Given the description of an element on the screen output the (x, y) to click on. 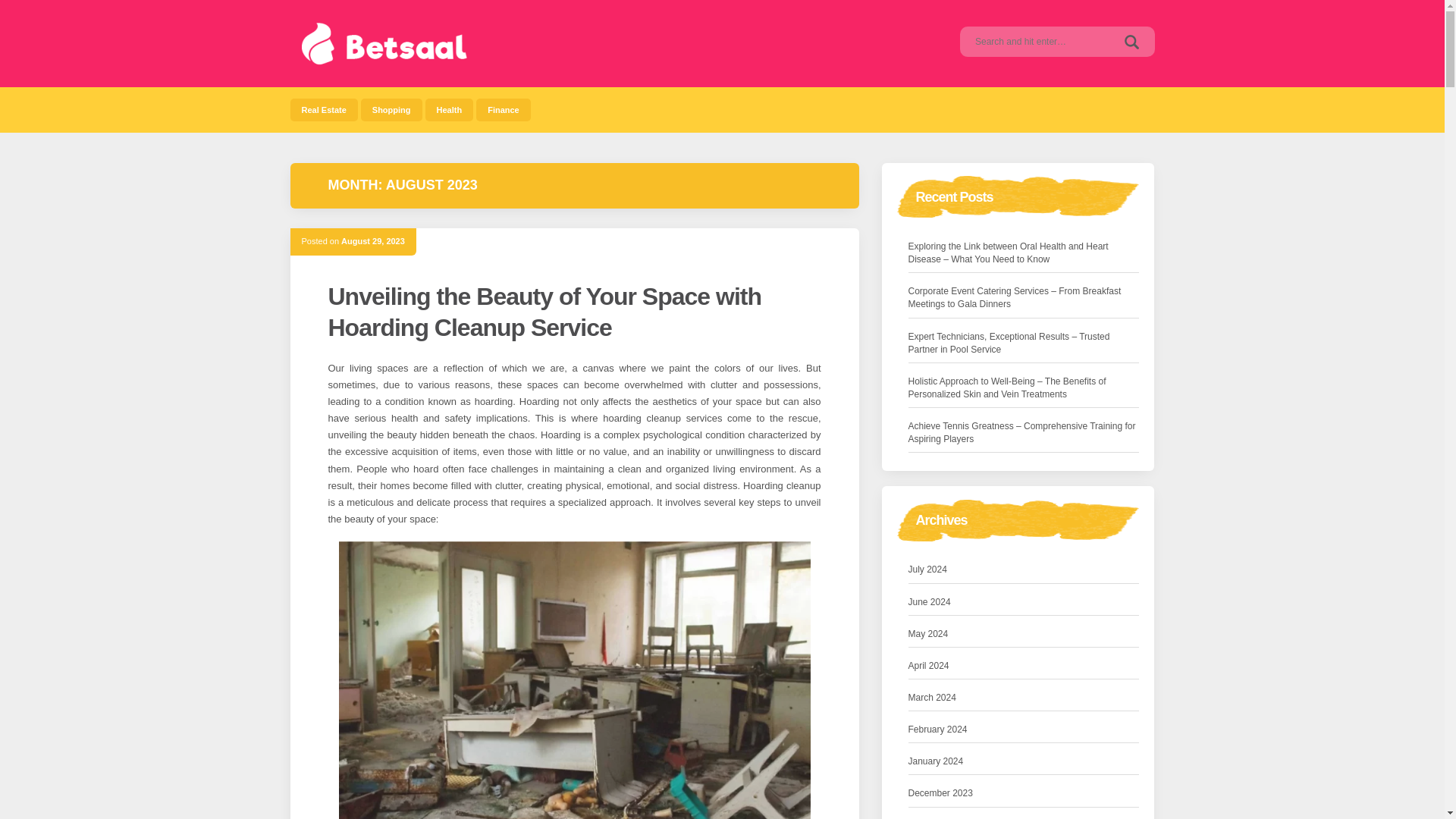
Real Estate (322, 109)
Health (449, 109)
Real Estate (322, 109)
Finance (503, 109)
Health (449, 109)
Search (1131, 41)
Shopping (391, 109)
Search (1131, 41)
Finance (503, 109)
Shopping (391, 109)
Search (1131, 41)
August 29, 2023 (372, 240)
